Given the description of an element on the screen output the (x, y) to click on. 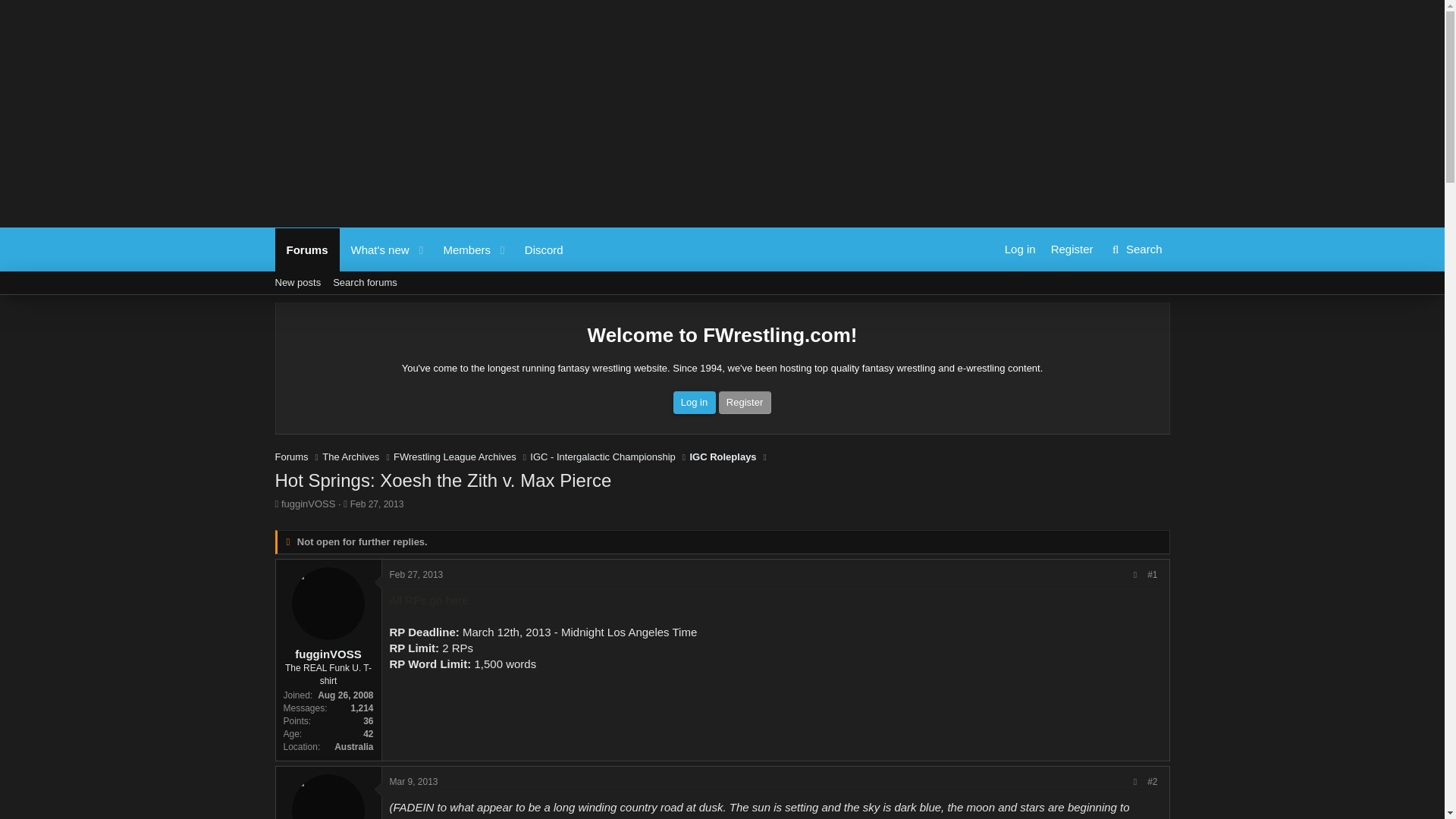
Discord (544, 249)
IGC - Intergalactic Championship (602, 457)
fugginVOSS (308, 503)
Register (745, 402)
Mar 9, 2013 at 2:58 AM (414, 781)
Search forums (364, 282)
Register (423, 249)
IGC Roleplays (1071, 249)
New posts (721, 457)
FWrestling League Archives (296, 282)
Feb 27, 2013 (423, 249)
Log in (454, 457)
Feb 27, 2013 at 10:01 PM (377, 503)
